Given the description of an element on the screen output the (x, y) to click on. 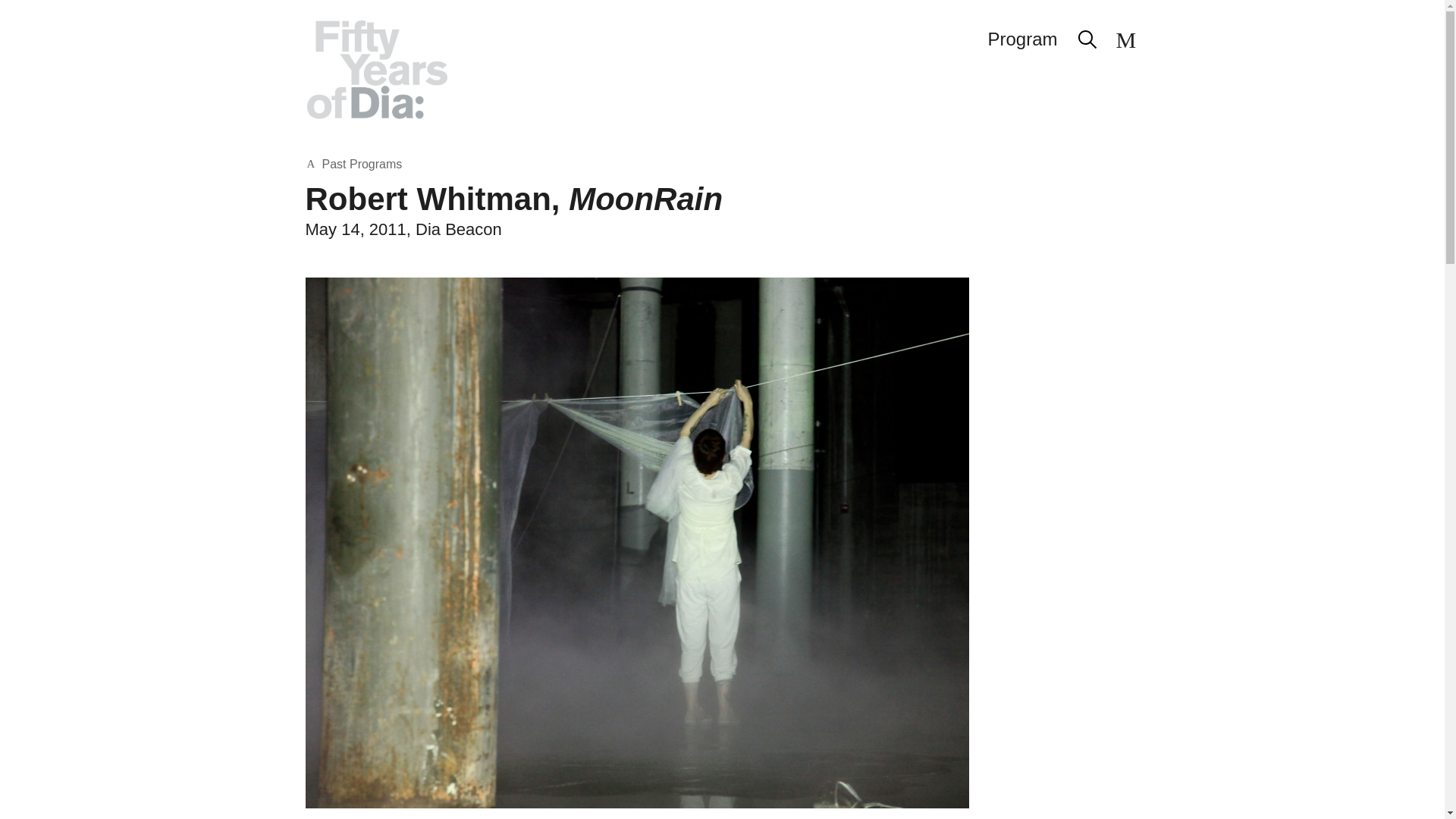
search (1087, 39)
Program (1021, 38)
go to Program page (1021, 38)
open menu (1126, 39)
Skip to content (659, 24)
Skip to footer links (774, 24)
content title (659, 24)
Go to home page (376, 69)
